Given the description of an element on the screen output the (x, y) to click on. 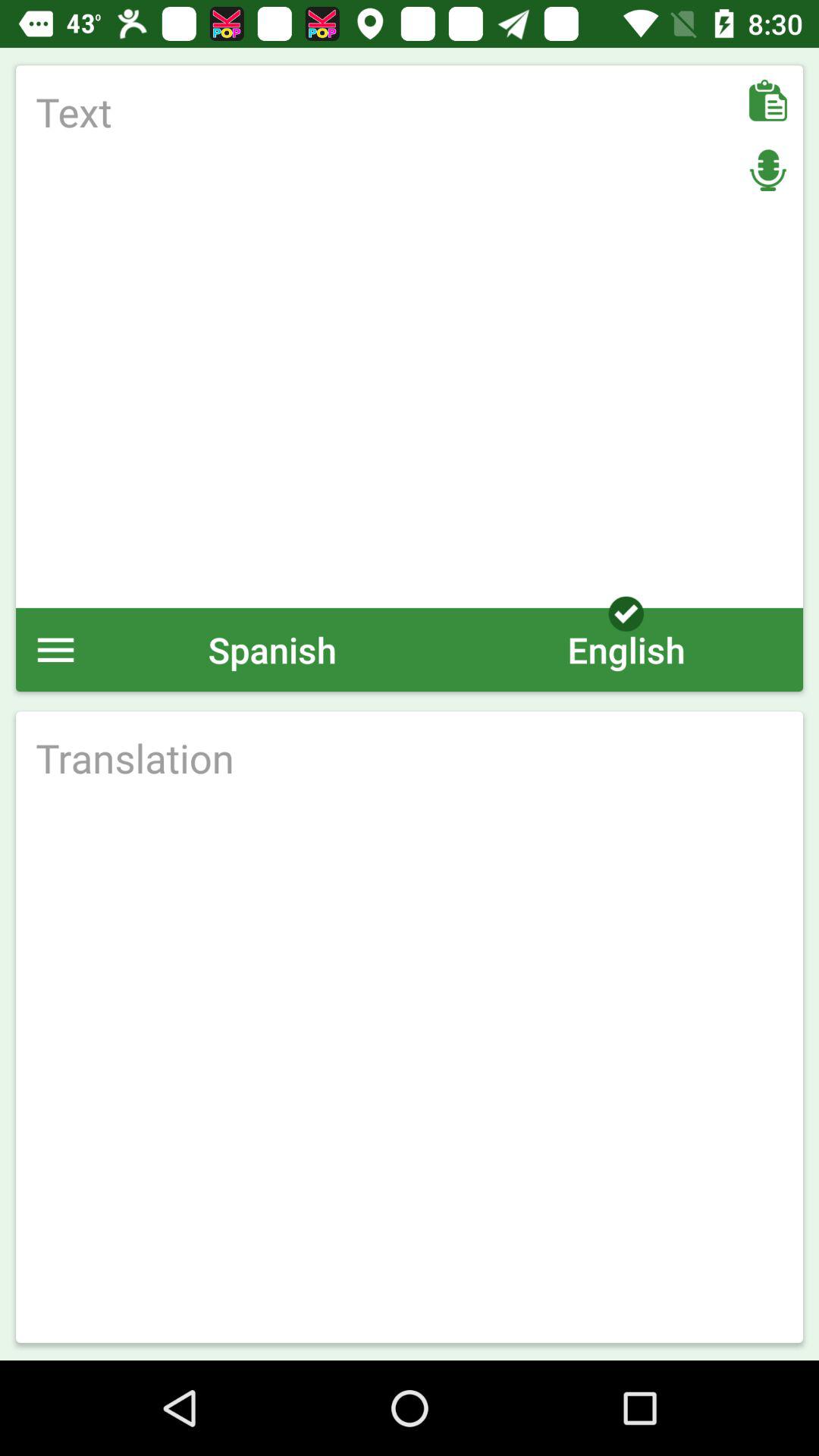
tap the icon to the left of the spanish item (55, 649)
